Given the description of an element on the screen output the (x, y) to click on. 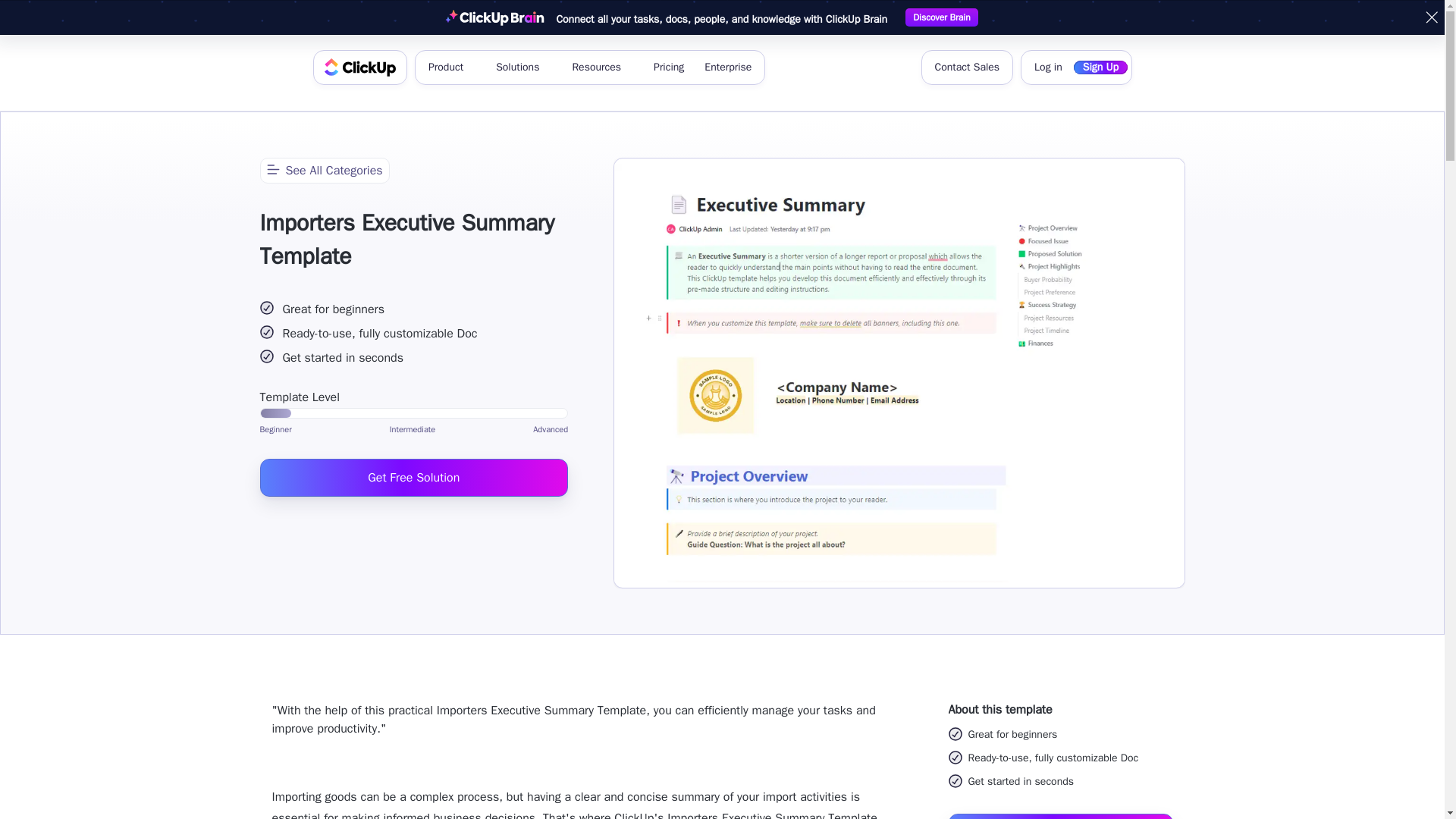
Resources (602, 67)
Get Free Solution (413, 476)
Close banner (1431, 17)
Product (451, 67)
Sign Up (1099, 67)
See All Categories (323, 170)
Solutions (523, 67)
Contact Sales (966, 67)
Discover Brain (940, 17)
Log in (1048, 67)
Pricing (669, 67)
Enterprise (727, 67)
Get Free Solution (1059, 816)
